Given the description of an element on the screen output the (x, y) to click on. 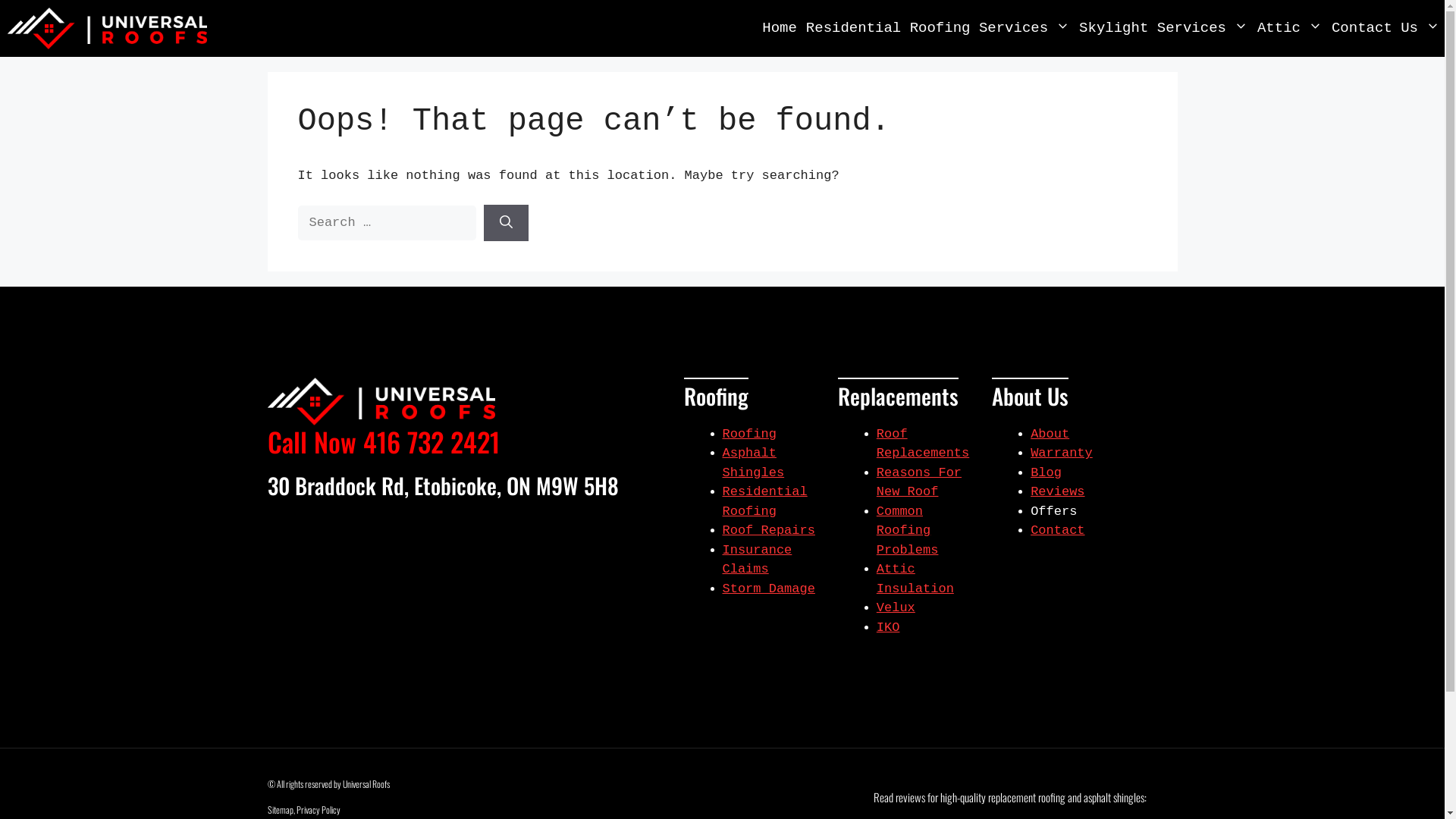
About Element type: text (1049, 433)
Velux Element type: text (895, 607)
Insurance Claims Element type: text (756, 559)
Residential Roofing Element type: text (763, 501)
Warranty Element type: text (1061, 452)
Reasons For New Roof Element type: text (918, 482)
Reviews Element type: text (1057, 491)
Attic Element type: text (1289, 28)
Home Element type: text (779, 28)
Roof Repairs Element type: text (767, 530)
Asphalt Shingles Element type: text (752, 462)
Contact Element type: text (1057, 530)
Roofing Element type: text (748, 433)
Residential Roofing Services Element type: text (937, 28)
IKO Element type: text (888, 627)
Search for: Element type: hover (386, 222)
Blog Element type: text (1045, 472)
Common Roofing Problems Element type: text (907, 530)
Roof Replacements Element type: text (922, 443)
Attic Insulation Element type: text (914, 578)
Skylight Services Element type: text (1163, 28)
Contact Us Element type: text (1385, 28)
Storm Damage Element type: text (767, 588)
